Given the description of an element on the screen output the (x, y) to click on. 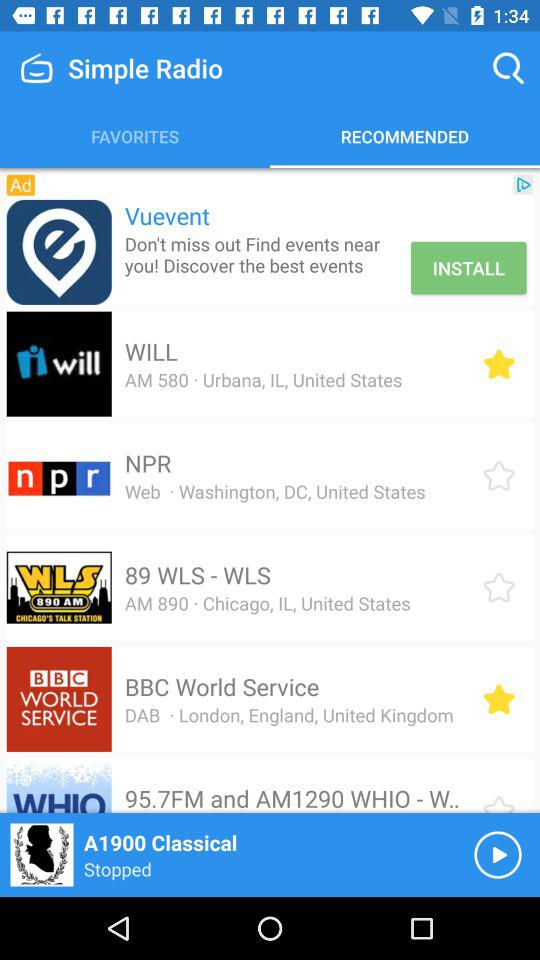
select icon above am 890 chicago icon (197, 575)
